Given the description of an element on the screen output the (x, y) to click on. 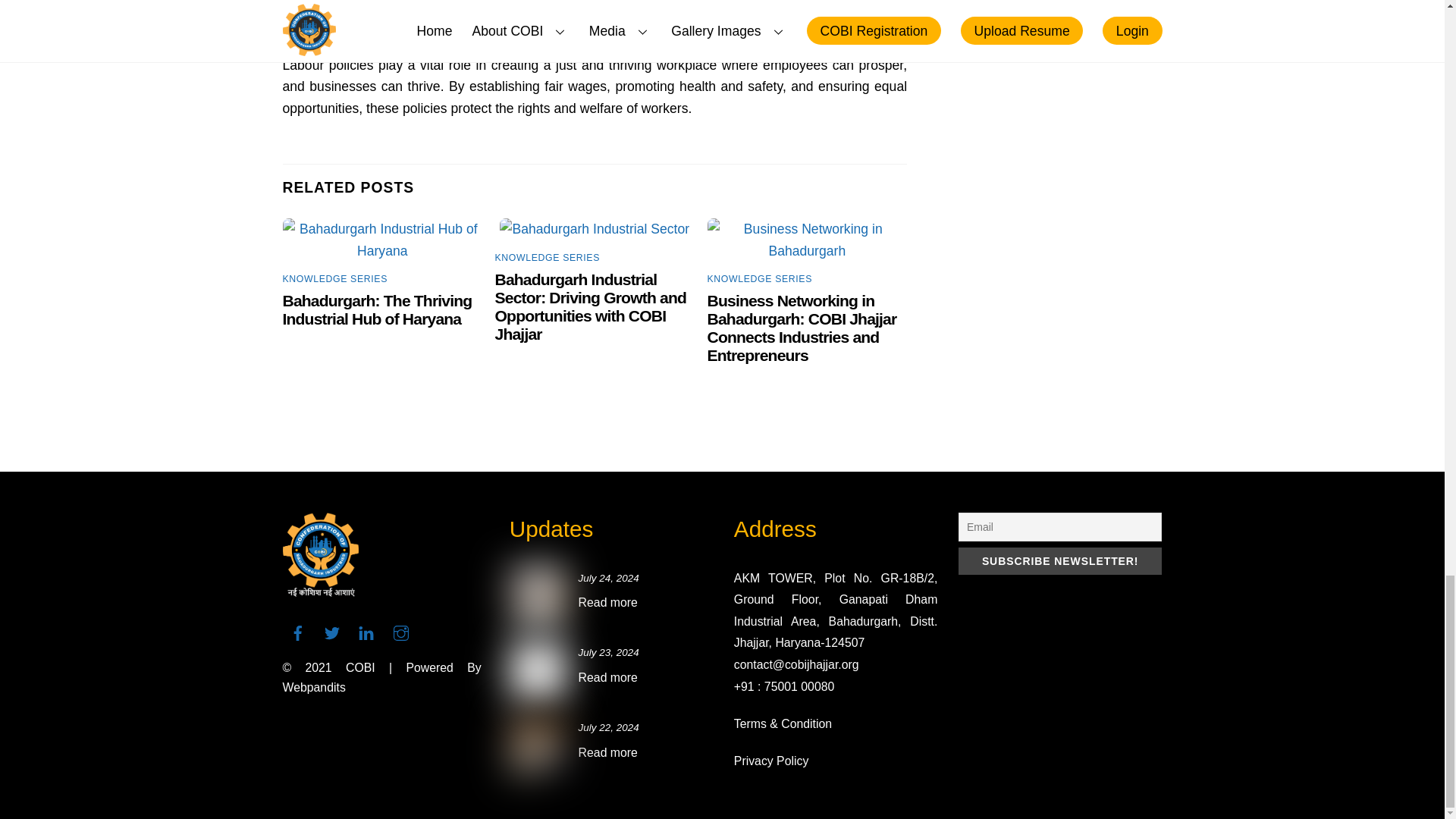
KNOWLEDGE SERIES (547, 257)
Subscribe Newsletter! (1059, 560)
Bahadurgarh Industrial Sector (593, 229)
KNOWLEDGE SERIES (334, 278)
COBI Jhajjar (320, 590)
Business Networking in Bahadurgarh (807, 239)
Industrial Hub of Haryana (381, 239)
Bahadurgarh: The Thriving Industrial Hub of Haryana (376, 309)
